Given the description of an element on the screen output the (x, y) to click on. 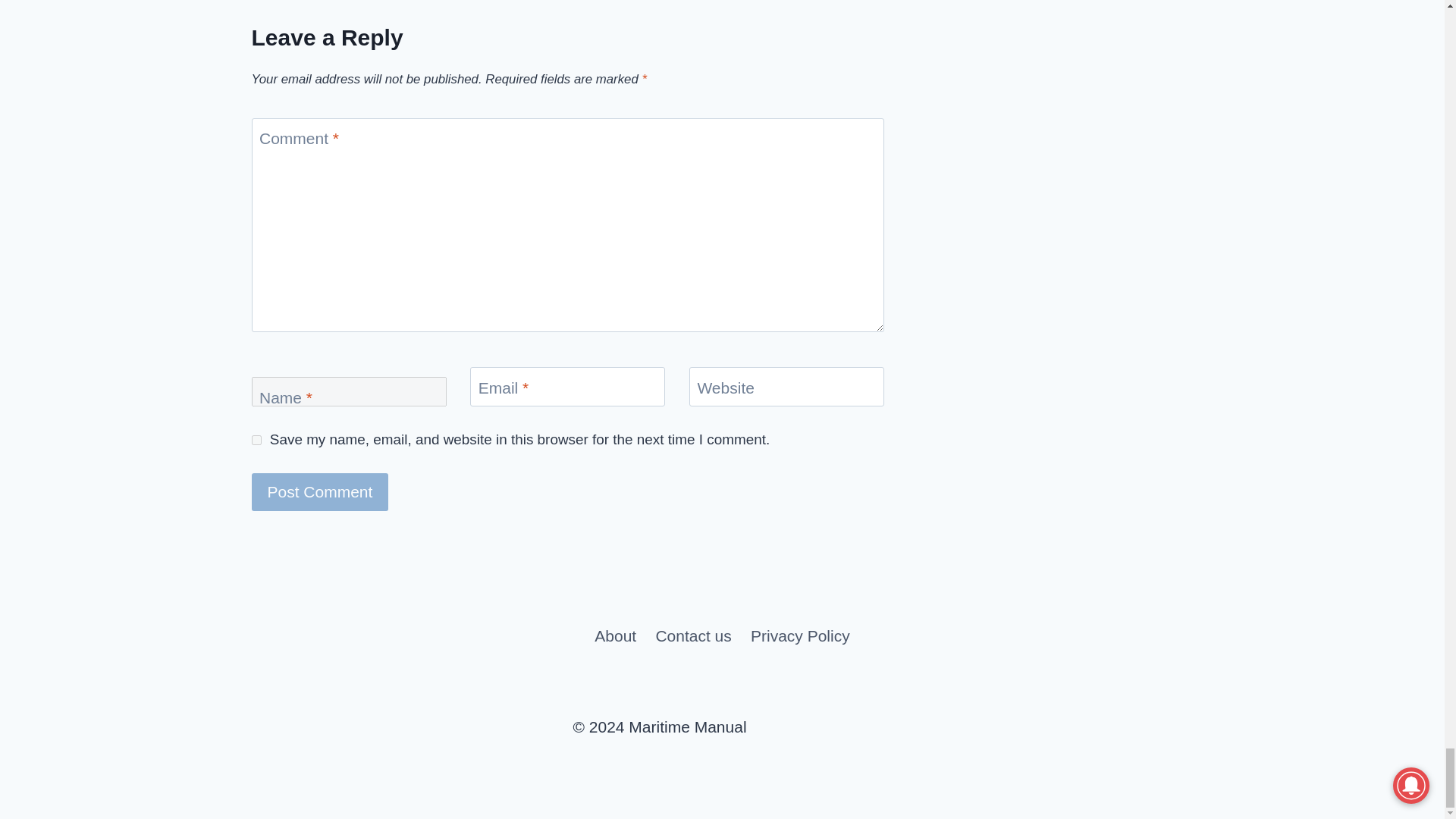
yes (256, 439)
Post Comment (319, 492)
